Given the description of an element on the screen output the (x, y) to click on. 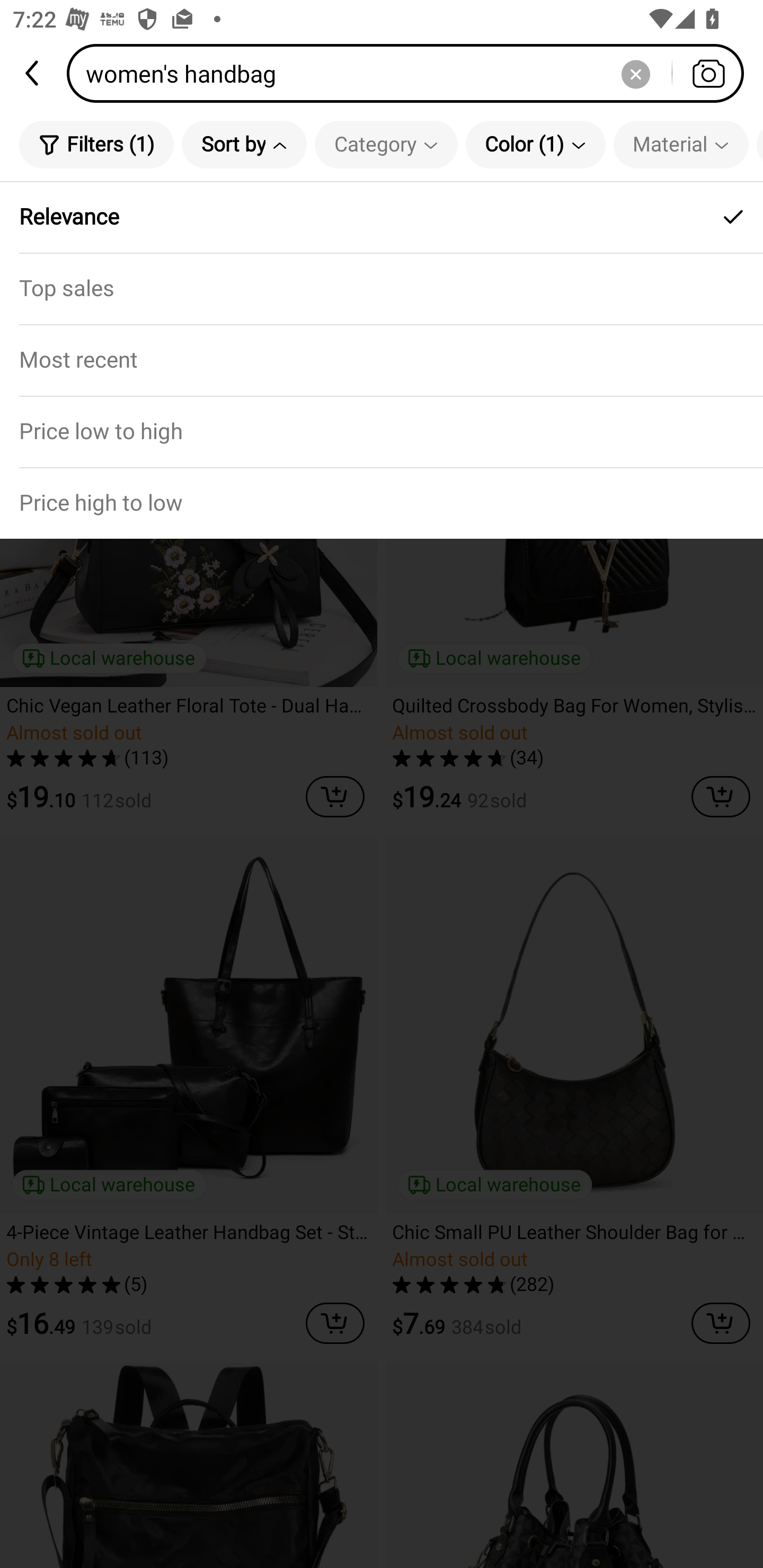
back (33, 72)
women's handbag (411, 73)
Delete search history (635, 73)
Search by photo (708, 73)
Filters (1) (96, 143)
Sort by (243, 143)
Category (385, 143)
Color (1) (535, 143)
Material (680, 143)
Relevance (381, 216)
Top sales (381, 288)
Most recent (381, 359)
Price low to high (381, 431)
Price high to low (381, 503)
